Given the description of an element on the screen output the (x, y) to click on. 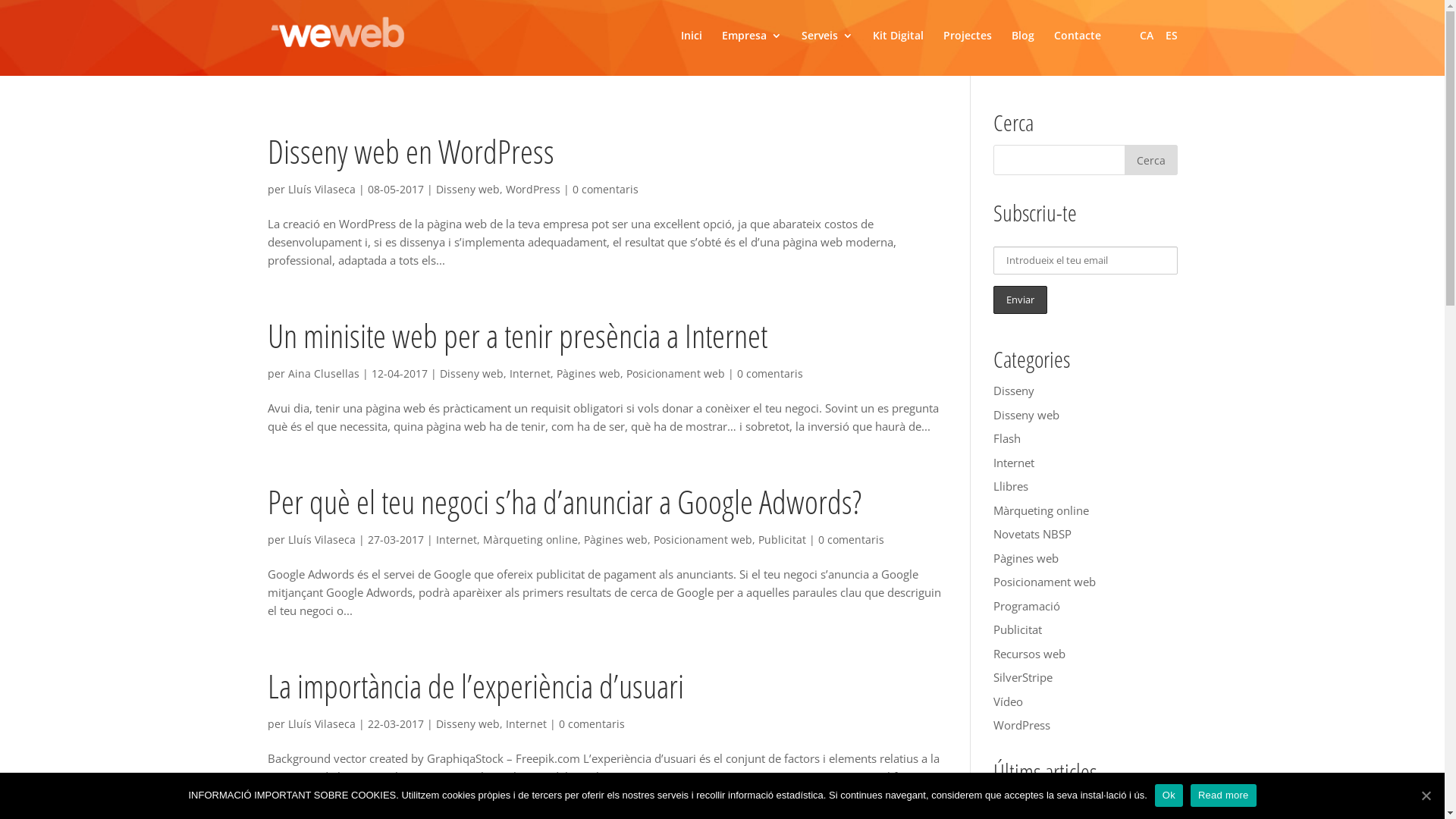
Disseny web Element type: text (466, 189)
Recursos web Element type: text (1029, 653)
Enviar Element type: text (1020, 299)
Publicitat Element type: text (782, 539)
Disseny web Element type: text (1026, 414)
Contacte Element type: text (1077, 46)
Aina Clusellas Element type: text (323, 373)
Disseny web en WordPress Element type: text (1064, 802)
Internet Element type: text (529, 373)
Kit Digital Element type: text (897, 46)
Blog Element type: text (1022, 46)
Posicionament web Element type: text (675, 373)
WordPress Element type: text (1021, 724)
Novetats NBSP Element type: text (1032, 533)
CA Element type: text (1145, 35)
Flash Element type: text (1006, 437)
Internet Element type: text (1013, 462)
Internet Element type: text (455, 539)
Llibres Element type: text (1010, 485)
0 comentaris Element type: text (591, 723)
WordPress Element type: text (532, 189)
Disseny web Element type: text (471, 373)
SilverStripe Element type: text (1022, 676)
Disseny web Element type: text (466, 723)
Projectes Element type: text (967, 46)
Ok Element type: text (1168, 795)
Inici Element type: text (691, 46)
Publicitat Element type: text (1017, 629)
Disseny Element type: text (1013, 390)
Read more Element type: text (1223, 795)
Internet Element type: text (525, 723)
Disseny web en WordPress Element type: text (409, 150)
0 comentaris Element type: text (604, 189)
Empresa Element type: text (751, 46)
ES Element type: text (1170, 35)
0 comentaris Element type: text (770, 373)
Serveis Element type: text (826, 46)
0 comentaris Element type: text (850, 539)
Cerca Element type: text (1149, 159)
Posicionament web Element type: text (702, 539)
Posicionament web Element type: text (1044, 581)
